Given the description of an element on the screen output the (x, y) to click on. 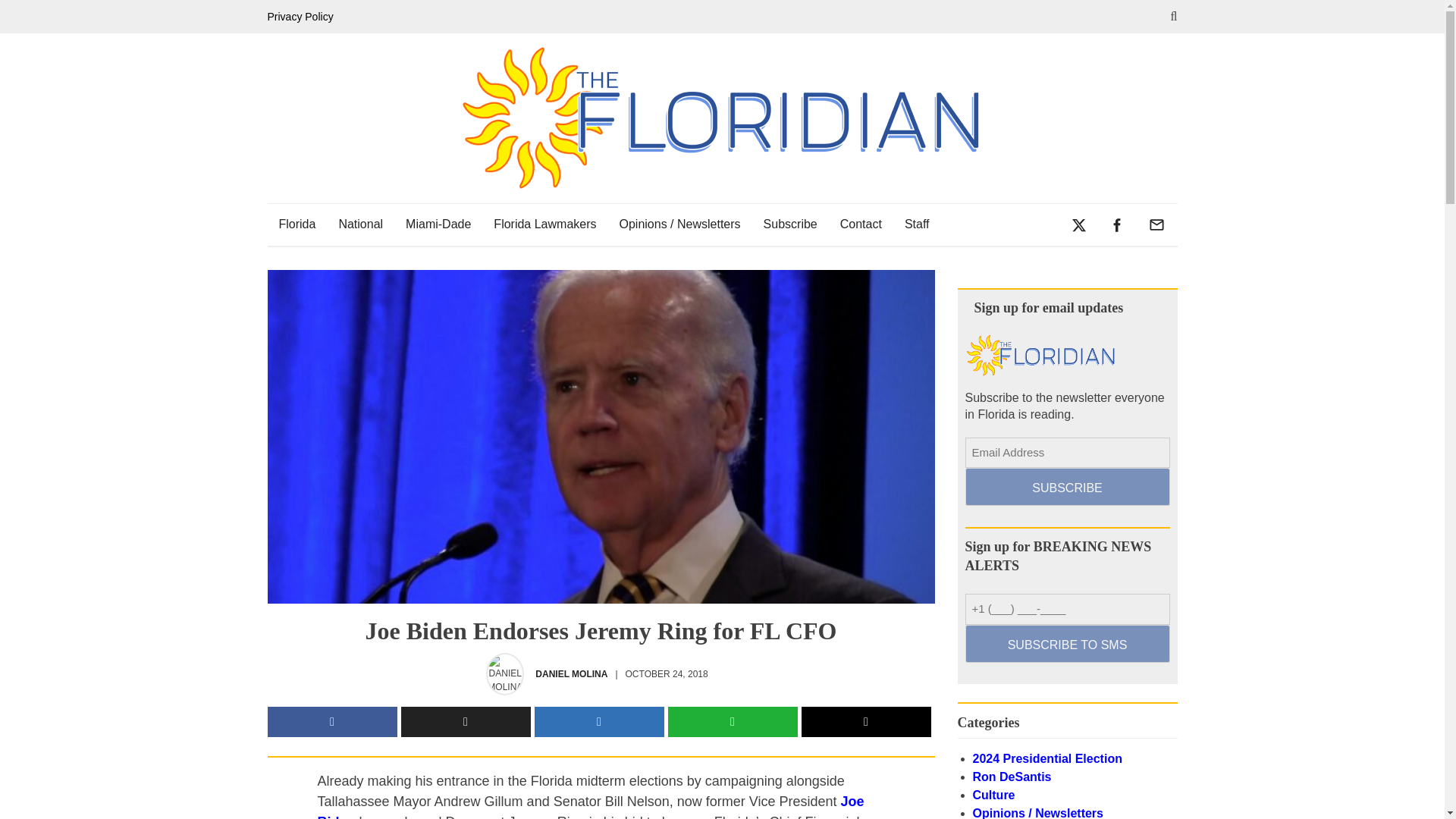
SUBSCRIBE (1066, 486)
DANIEL MOLINA (571, 673)
Contact (860, 223)
Miami-Dade (437, 223)
National (360, 223)
Staff (916, 223)
Subscribe (790, 223)
Florida (296, 223)
SUBSCRIBE TO SMS (1066, 643)
Florida Lawmakers (544, 223)
Joe Biden (590, 806)
Privacy Policy (303, 16)
